Given the description of an element on the screen output the (x, y) to click on. 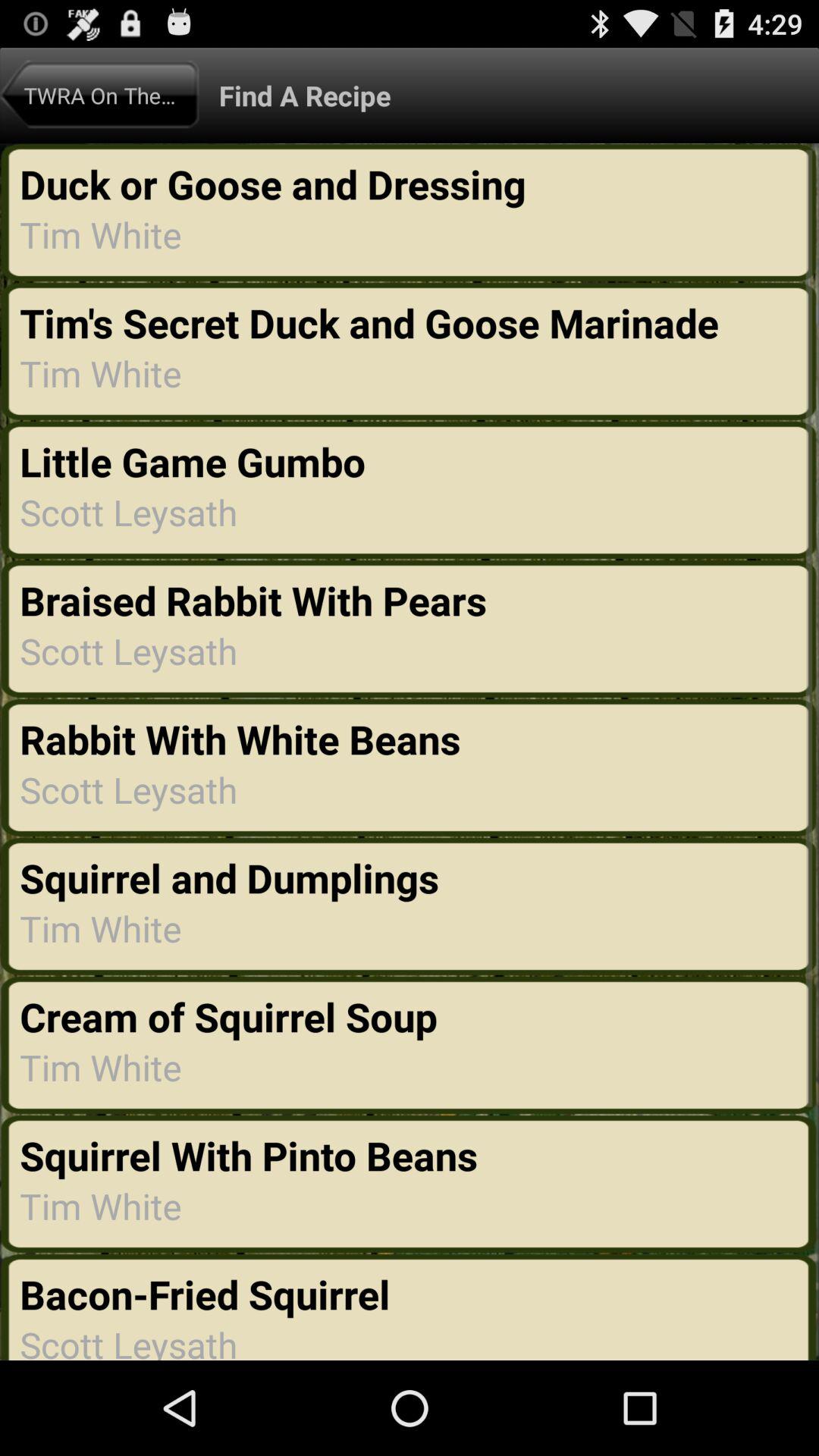
flip to cream of squirrel item (233, 1016)
